Given the description of an element on the screen output the (x, y) to click on. 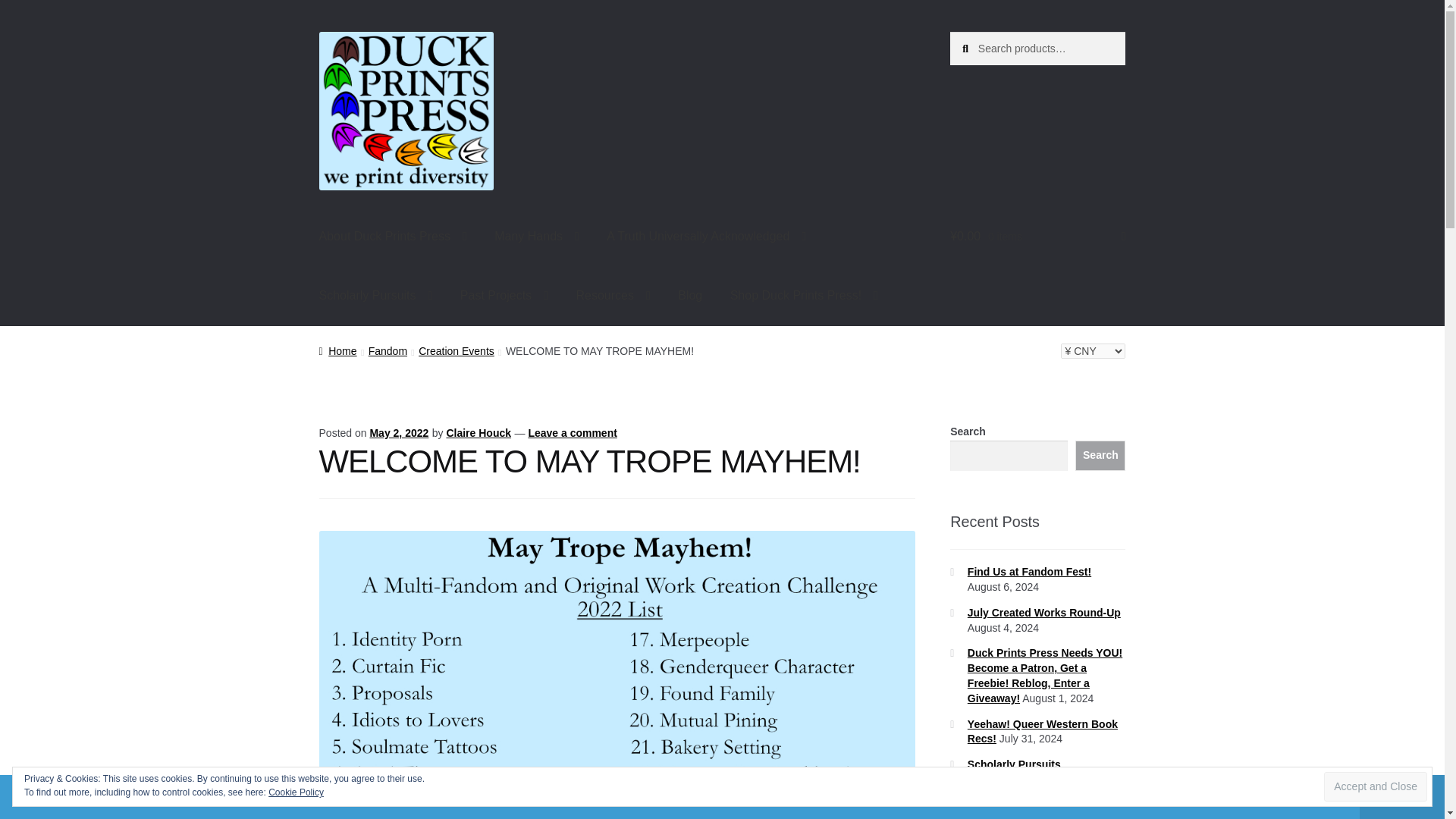
About Duck Prints Press (393, 237)
Scholarly Pursuits (376, 295)
Accept and Close (1374, 786)
View your shopping cart (1037, 237)
A Truth Universally Acknowledged (706, 237)
Past Projects (504, 295)
Many Hands (536, 237)
